Given the description of an element on the screen output the (x, y) to click on. 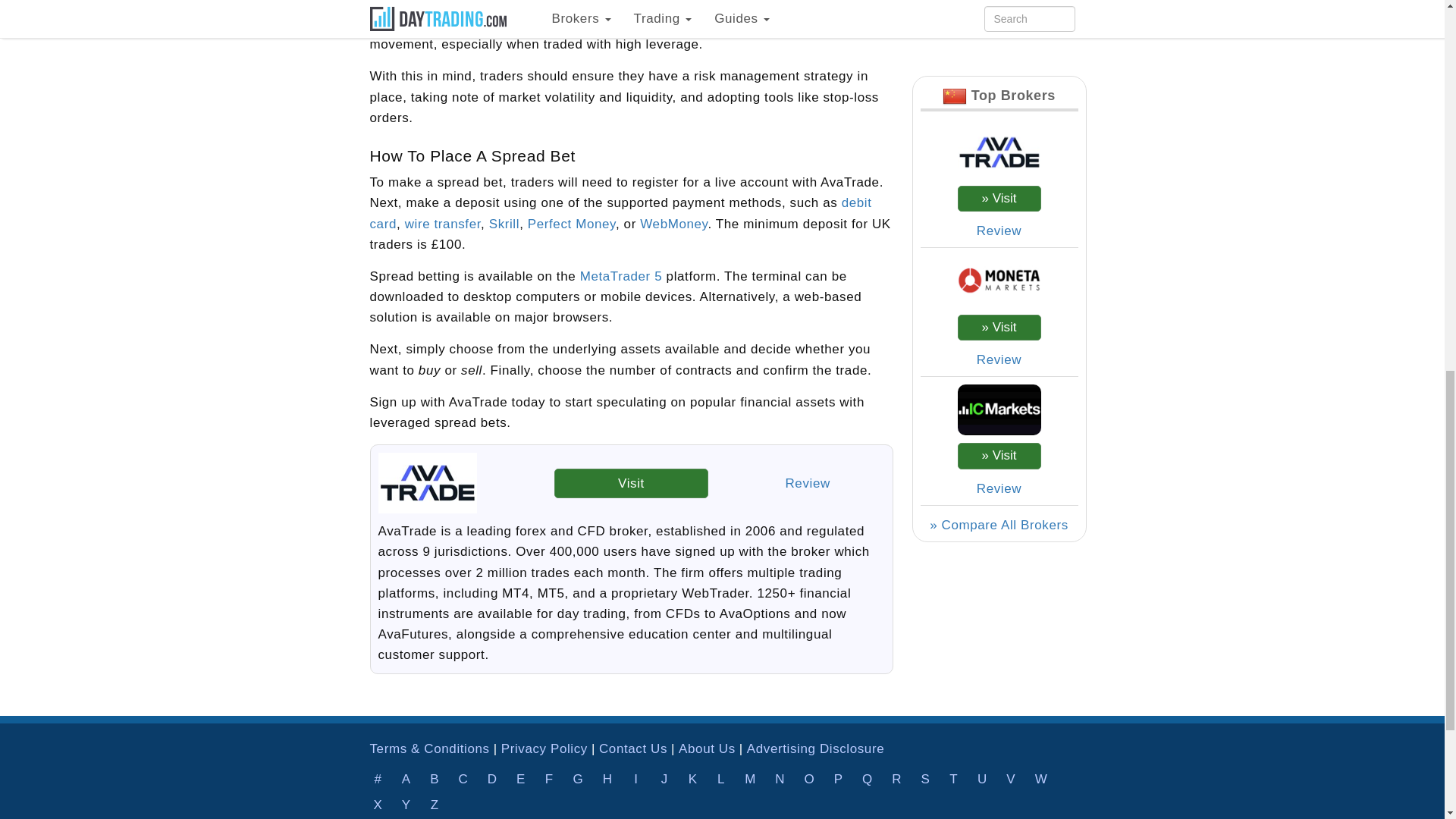
Visit AvaTrade (630, 482)
